Given the description of an element on the screen output the (x, y) to click on. 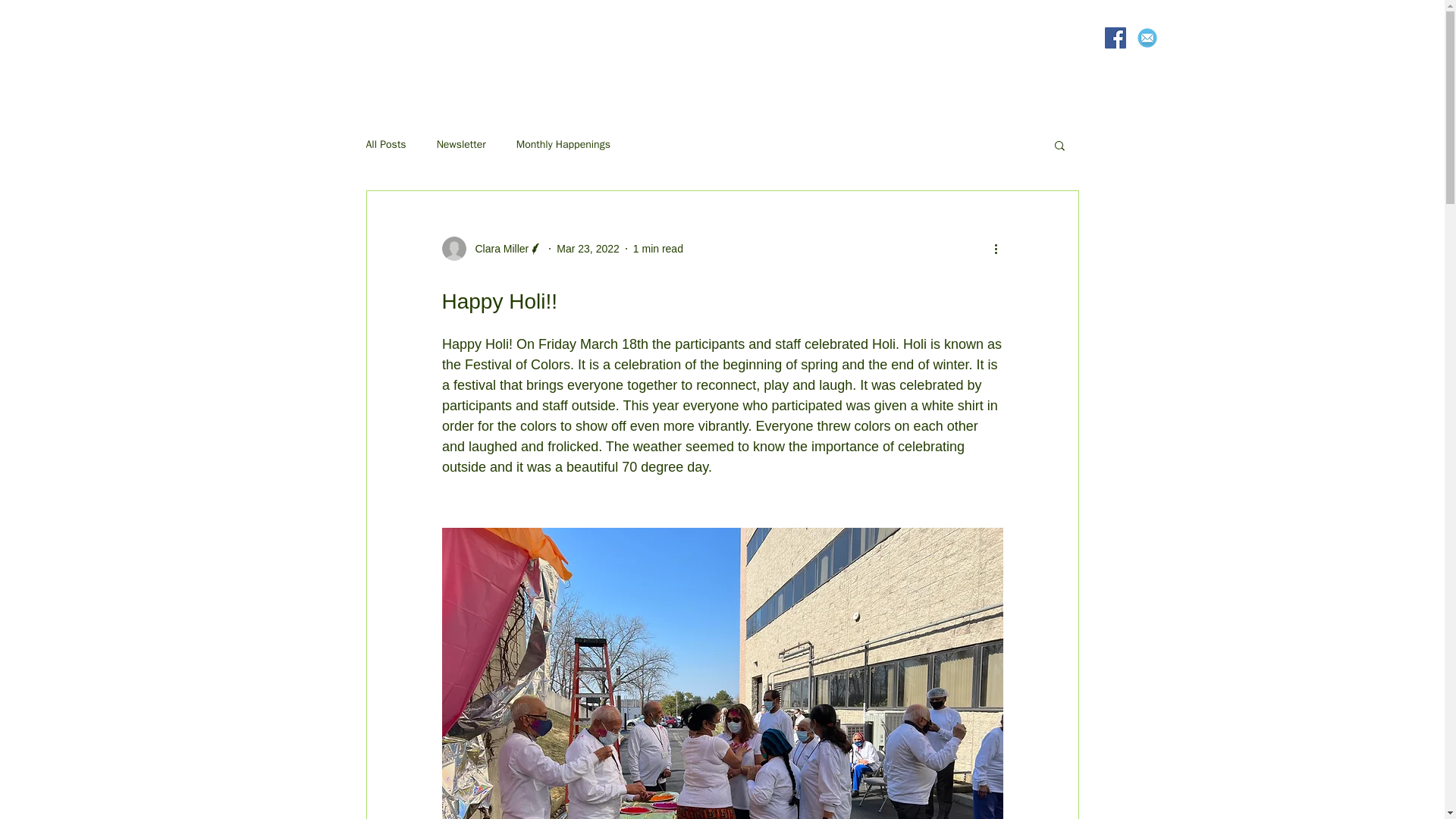
Newsletter (461, 144)
Monthly Happenings (563, 144)
Mar 23, 2022 (588, 248)
All Posts (385, 144)
Clara Miller (492, 248)
Clara Miller (496, 248)
1 min read (657, 248)
